Given the description of an element on the screen output the (x, y) to click on. 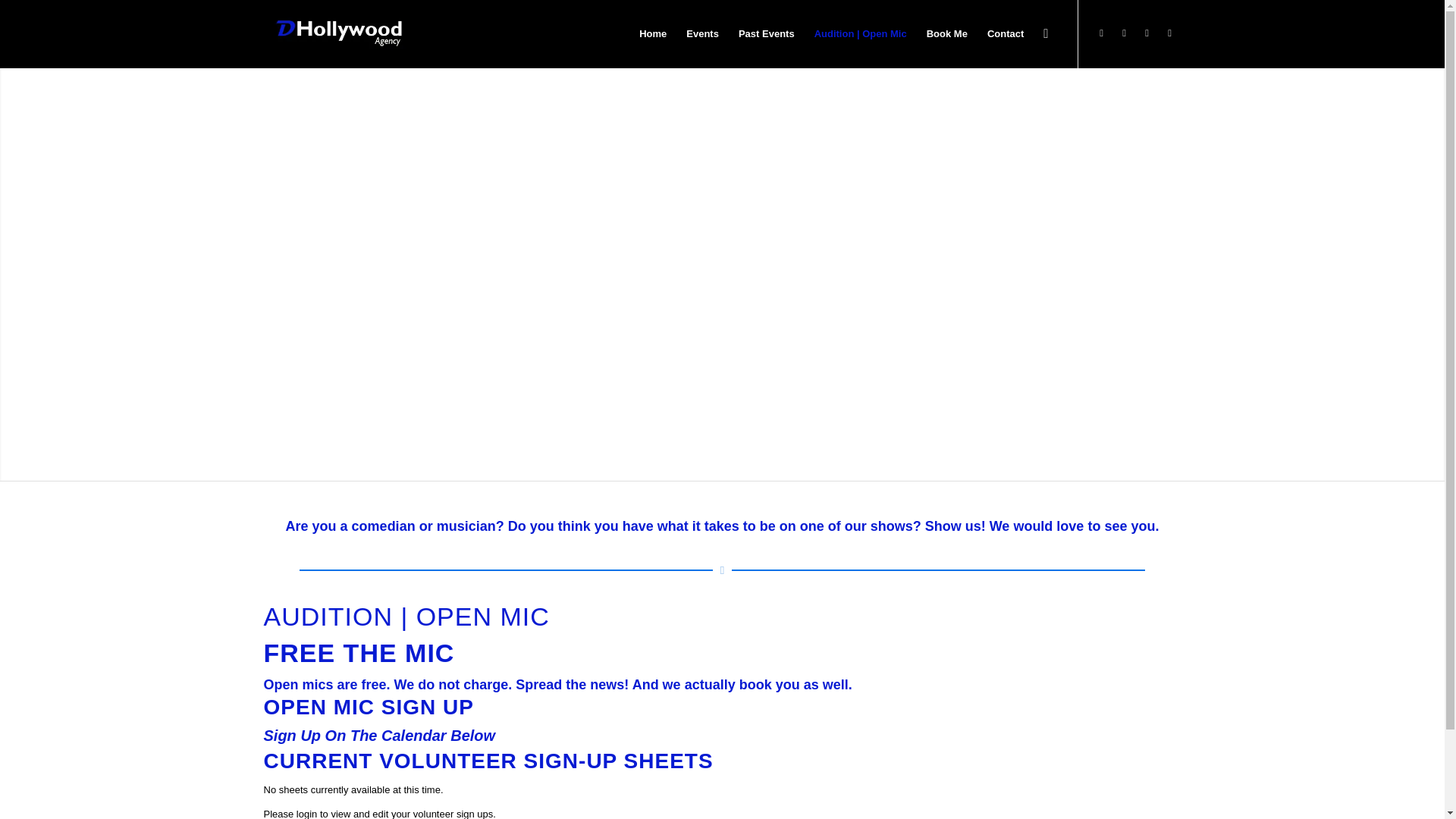
Instagram (1146, 33)
Past Events (767, 33)
Youtube (1169, 33)
DHollywood Agency Website logo (337, 33)
Facebook (1124, 33)
Twitter (1101, 33)
